Given the description of an element on the screen output the (x, y) to click on. 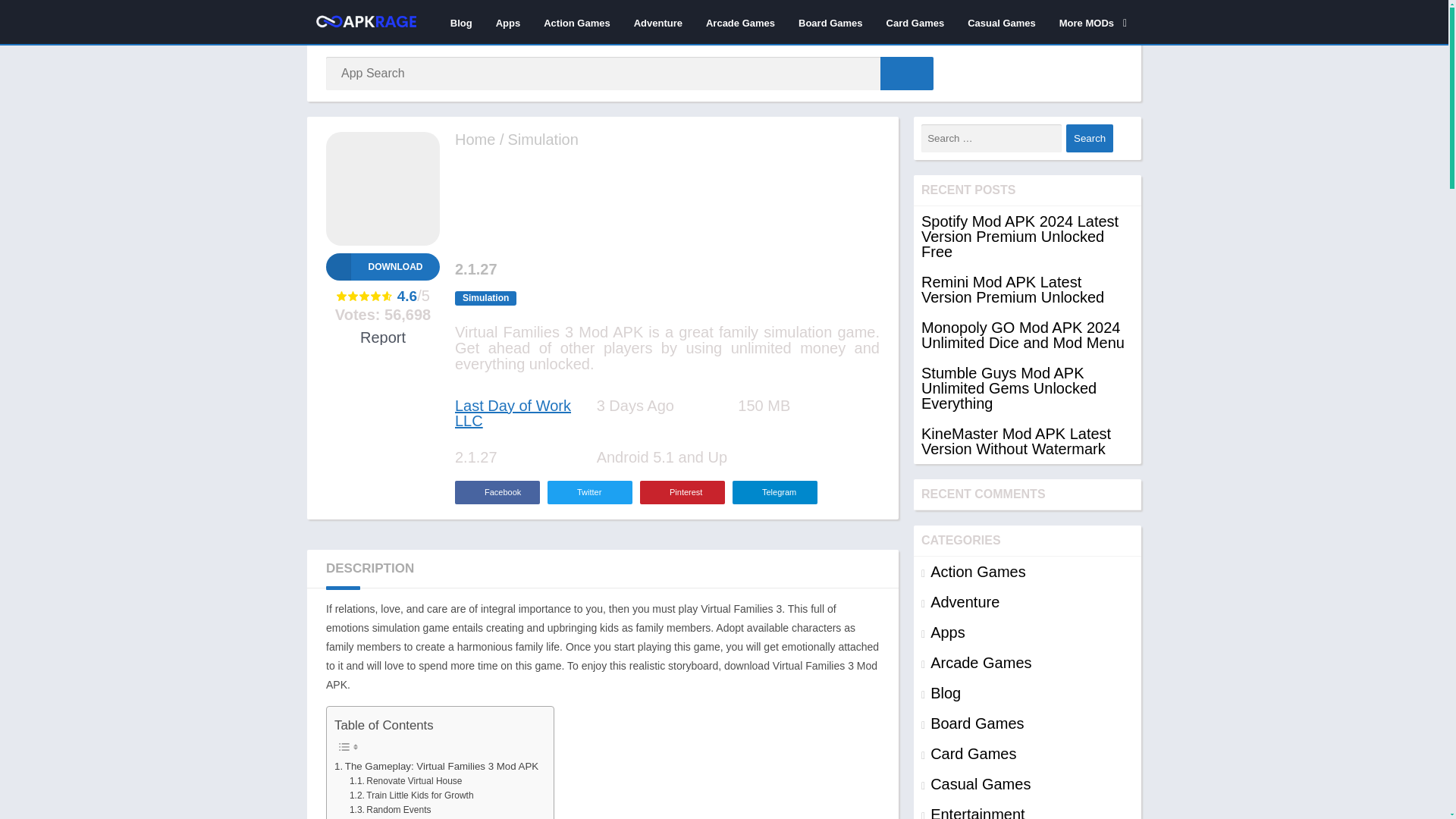
Train Little Kids for Growth (411, 795)
Download (382, 266)
Apps (508, 22)
Simulation (485, 298)
Card Games (915, 22)
Renovate Virtual House (406, 780)
Twitter (589, 492)
Apkrage (474, 139)
Board Games (831, 22)
Home (474, 139)
Report (382, 337)
DOWNLOAD (382, 266)
Action Games (576, 22)
Casual Games (1001, 22)
